Given the description of an element on the screen output the (x, y) to click on. 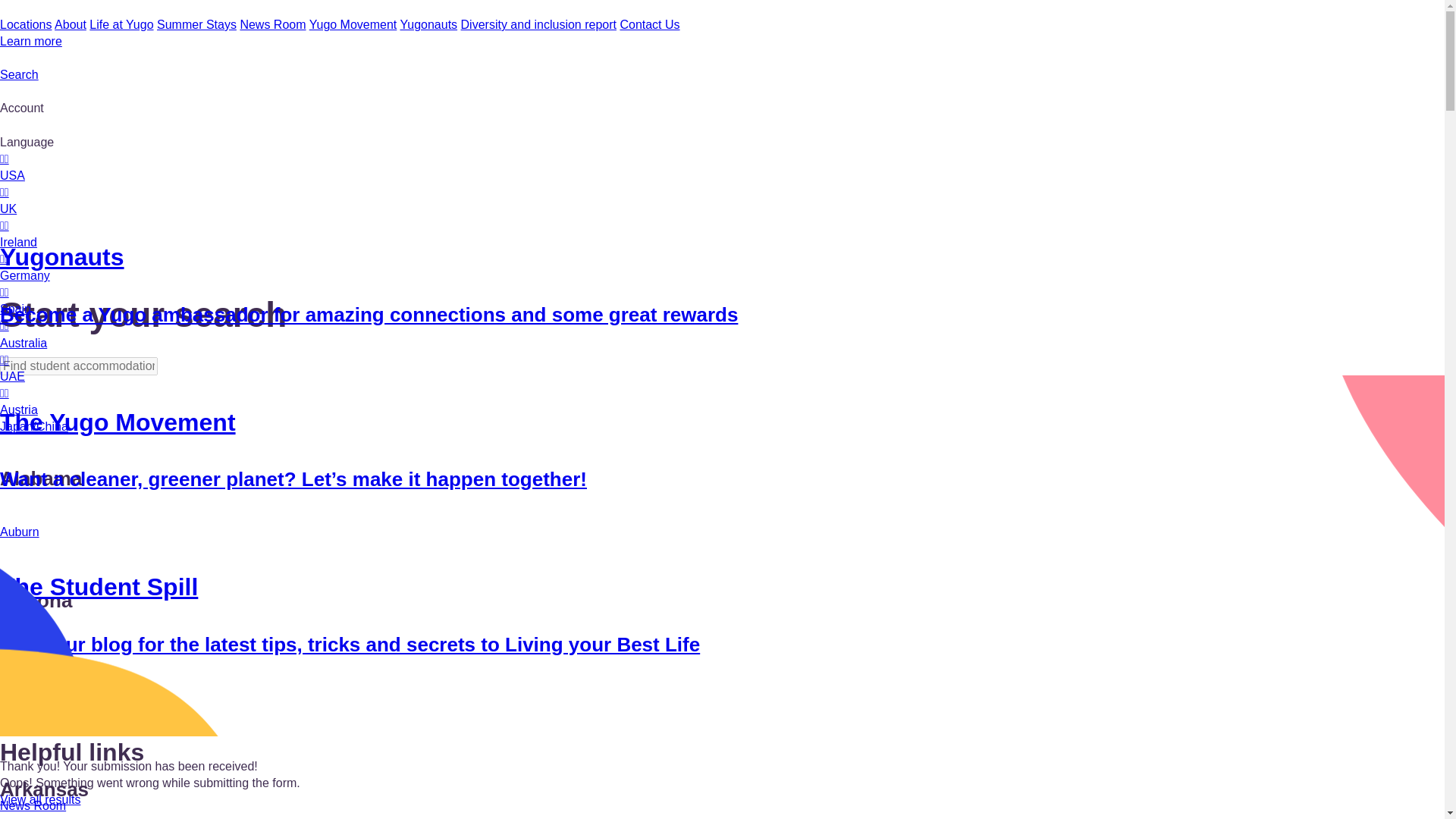
News Room (272, 24)
Summer Stays (196, 24)
Yugonauts (427, 24)
Locations (26, 24)
About (70, 24)
Yugo Movement (352, 24)
Diversity and inclusion report (538, 24)
Life at Yugo (120, 24)
Contact Us (649, 24)
